Given the description of an element on the screen output the (x, y) to click on. 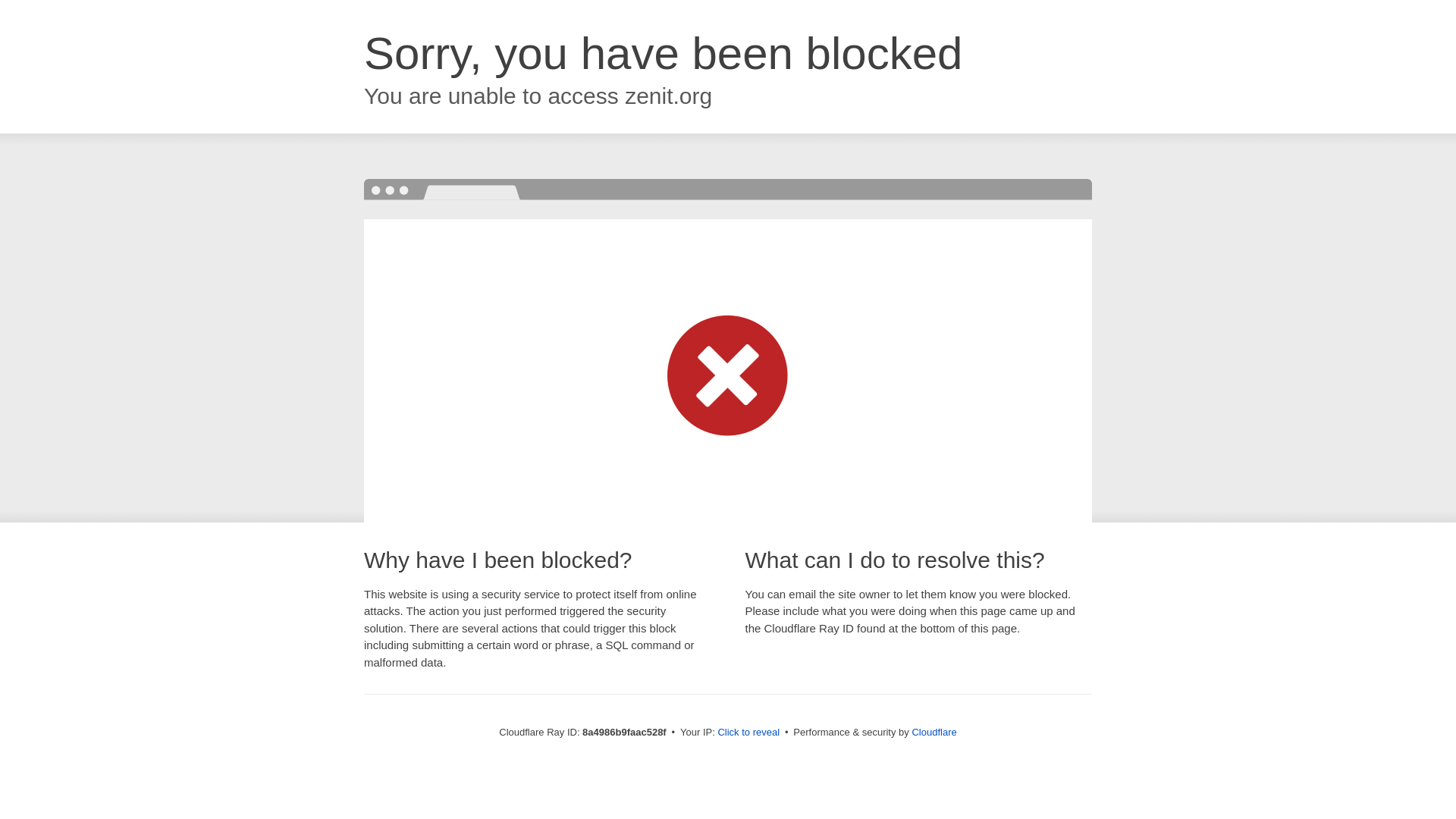
Cloudflare (933, 731)
Click to reveal (747, 732)
